Given the description of an element on the screen output the (x, y) to click on. 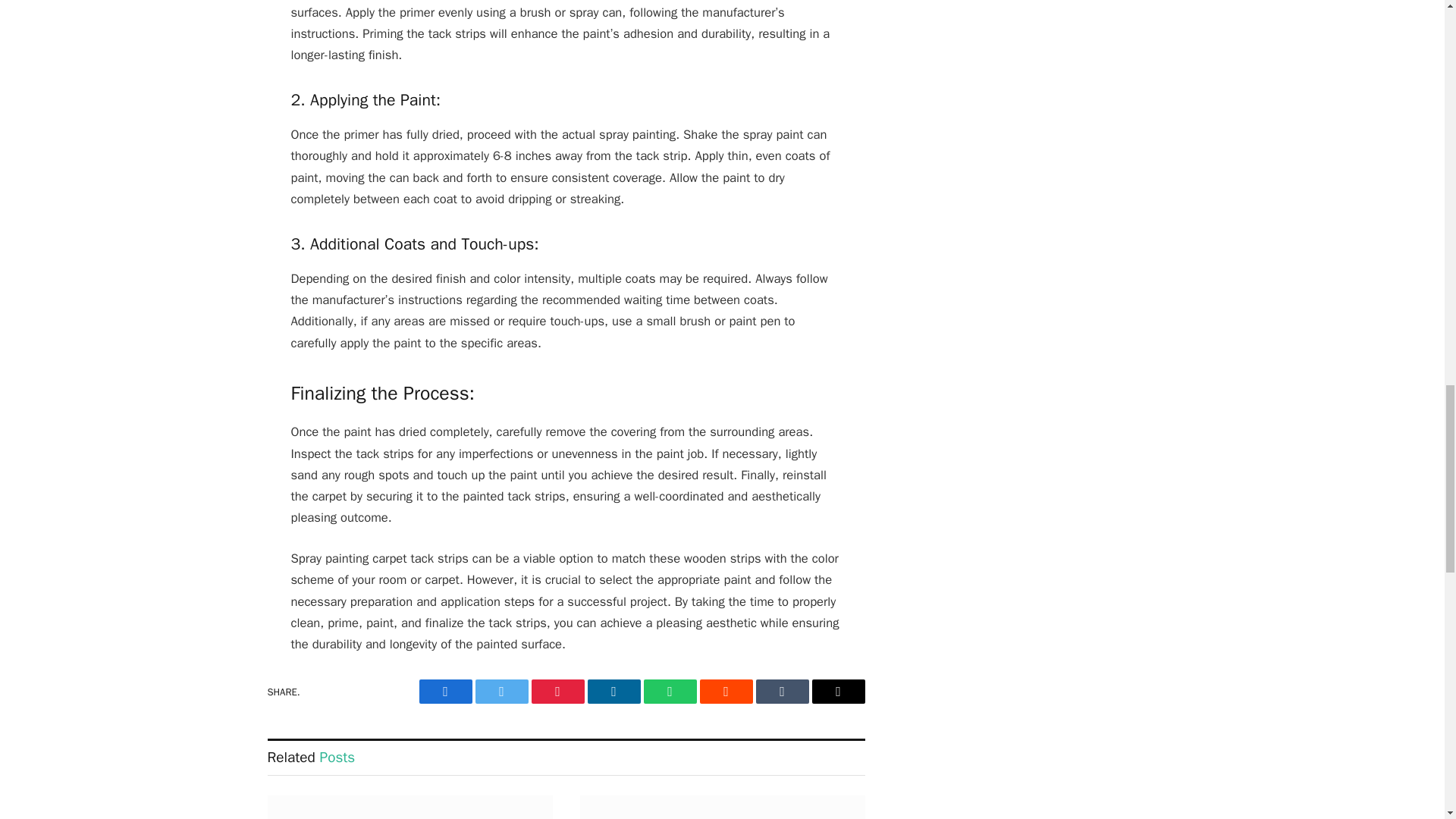
LinkedIn (613, 691)
WhatsApp (669, 691)
Tumblr (781, 691)
Facebook (445, 691)
Twitter (500, 691)
Pinterest (557, 691)
Reddit (725, 691)
